Given the description of an element on the screen output the (x, y) to click on. 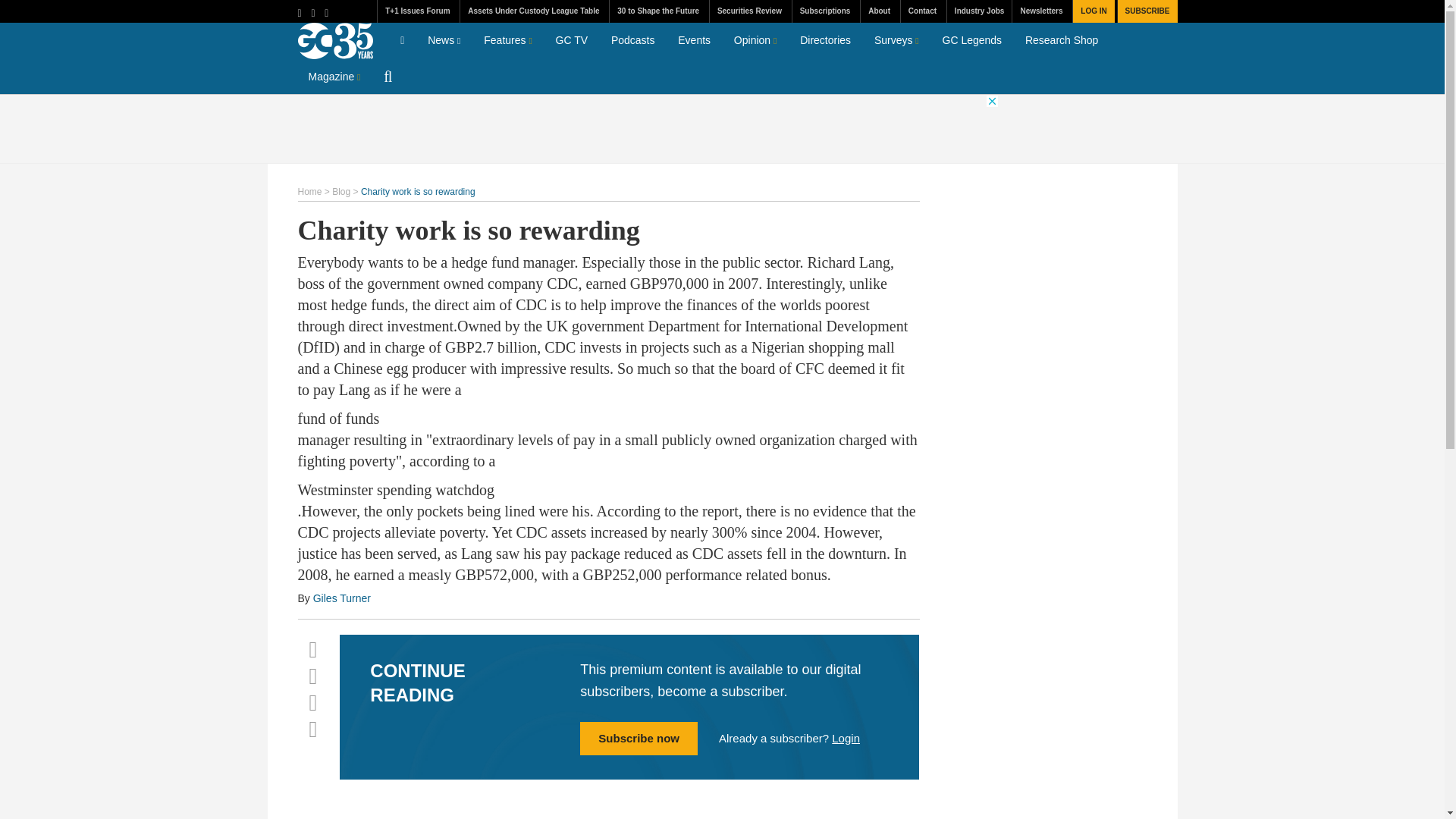
3rd party ad content (721, 128)
Go to Blog. (340, 191)
30 to Shape the Future (657, 11)
Newsletters (1040, 11)
Subscriptions (825, 11)
Contact (921, 11)
About (879, 11)
Go to Global Custodian. (309, 191)
Email this article (312, 729)
LOG IN (1092, 11)
Assets Under Custody League Table (533, 11)
SUBSCRIBE (1146, 11)
Industry Jobs (978, 11)
Securities Review (749, 11)
